Given the description of an element on the screen output the (x, y) to click on. 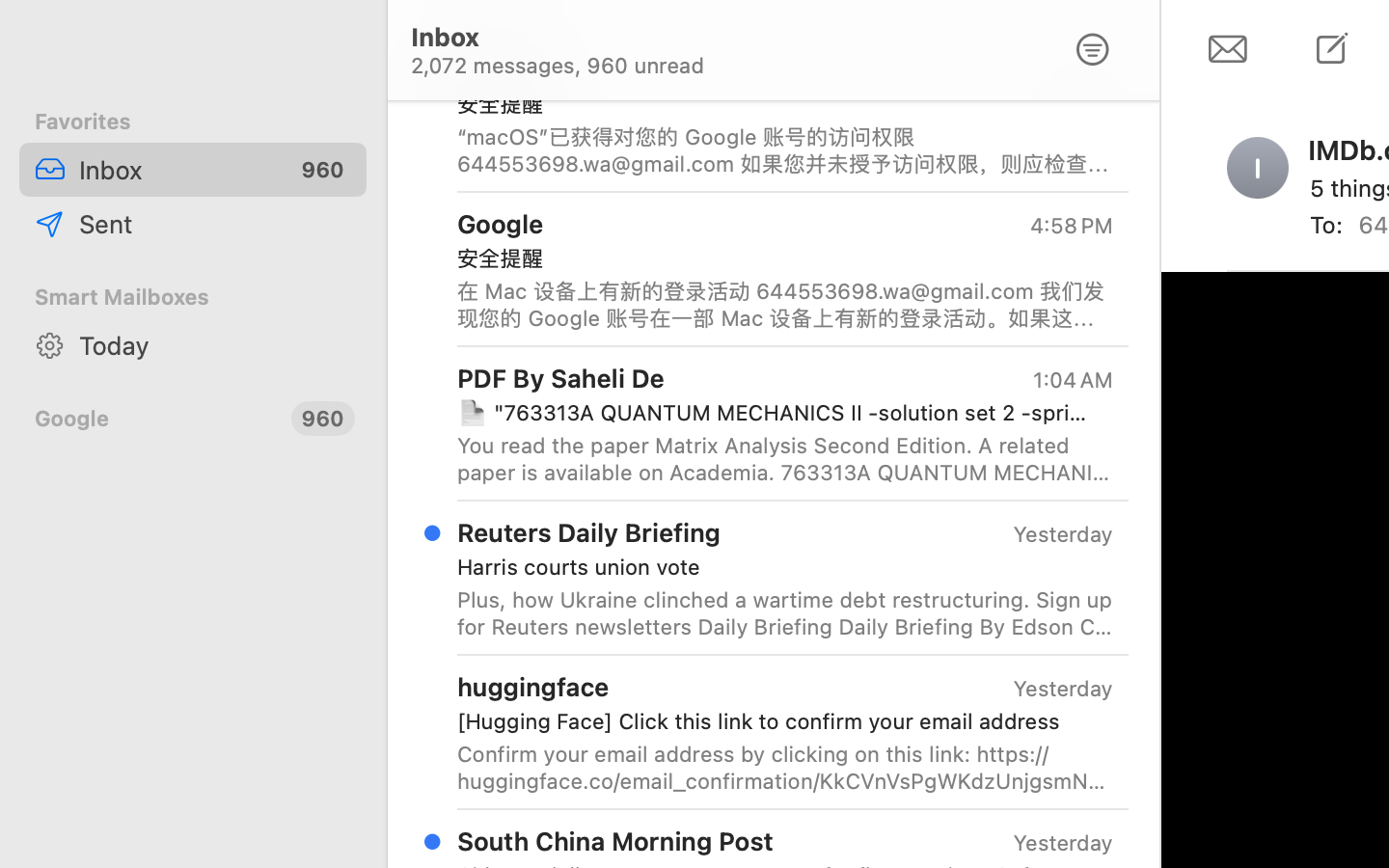
Today Element type: AXTextField (214, 344)
Yesterday Element type: AXStaticText (1062, 688)
安全提醒 Element type: AXStaticText (777, 103)
[Hugging Face] Click this link to confirm your email address Element type: AXStaticText (777, 720)
在 Mac 设备上有新的登录活动 644553698.wa@gmail.com 我们发现您的 Google 账号在一部 Mac 设备上有新的登录活动。如果这是您本人的操作，那么您无需采取任何行动。如果这不是您本人的操作，我们会帮助您保护您的账号。 查看活动 您也可以访问以下网址查看安全性活动： https://myaccount.google.com/notifications 我们向您发送这封电子邮件，目的是让您了解关于您的 Google 账号和服务的重大变化。 © 2024 Google LLC, 1600 Amphitheatre Parkway, Mountain View, CA 94043, USA Element type: AXStaticText (784, 304)
